Given the description of an element on the screen output the (x, y) to click on. 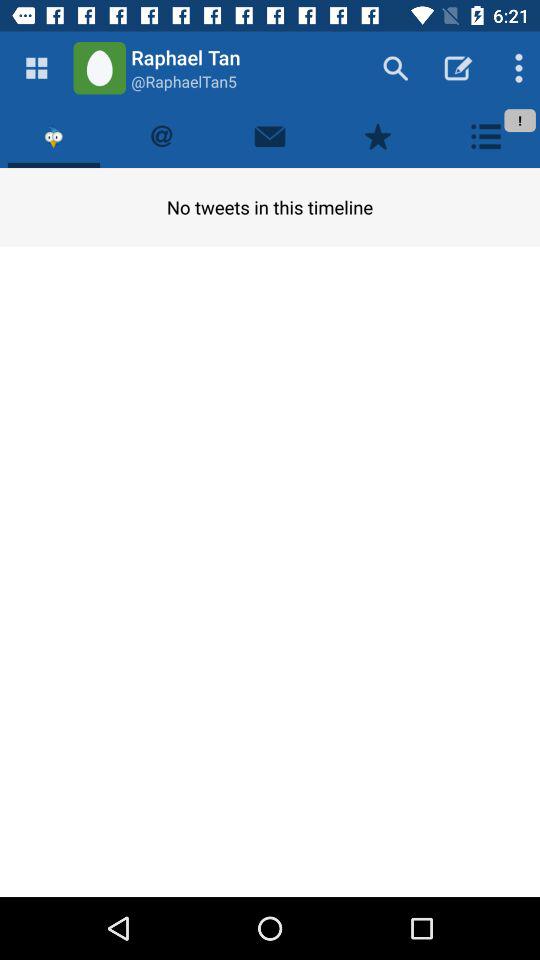
favorites (378, 136)
